Given the description of an element on the screen output the (x, y) to click on. 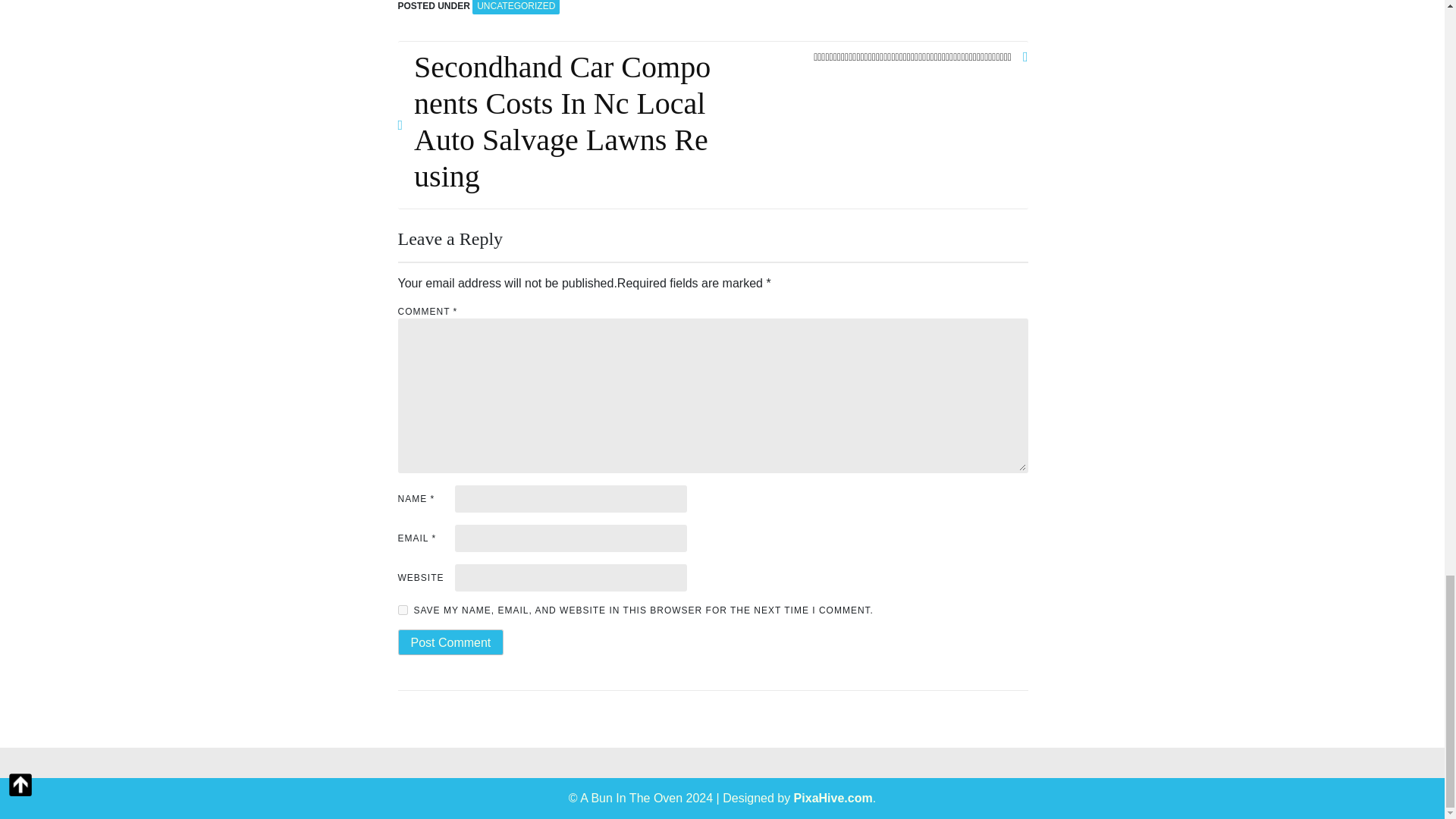
Post Comment (450, 642)
Post Comment (450, 642)
yes (402, 610)
UNCATEGORIZED (515, 7)
